Given the description of an element on the screen output the (x, y) to click on. 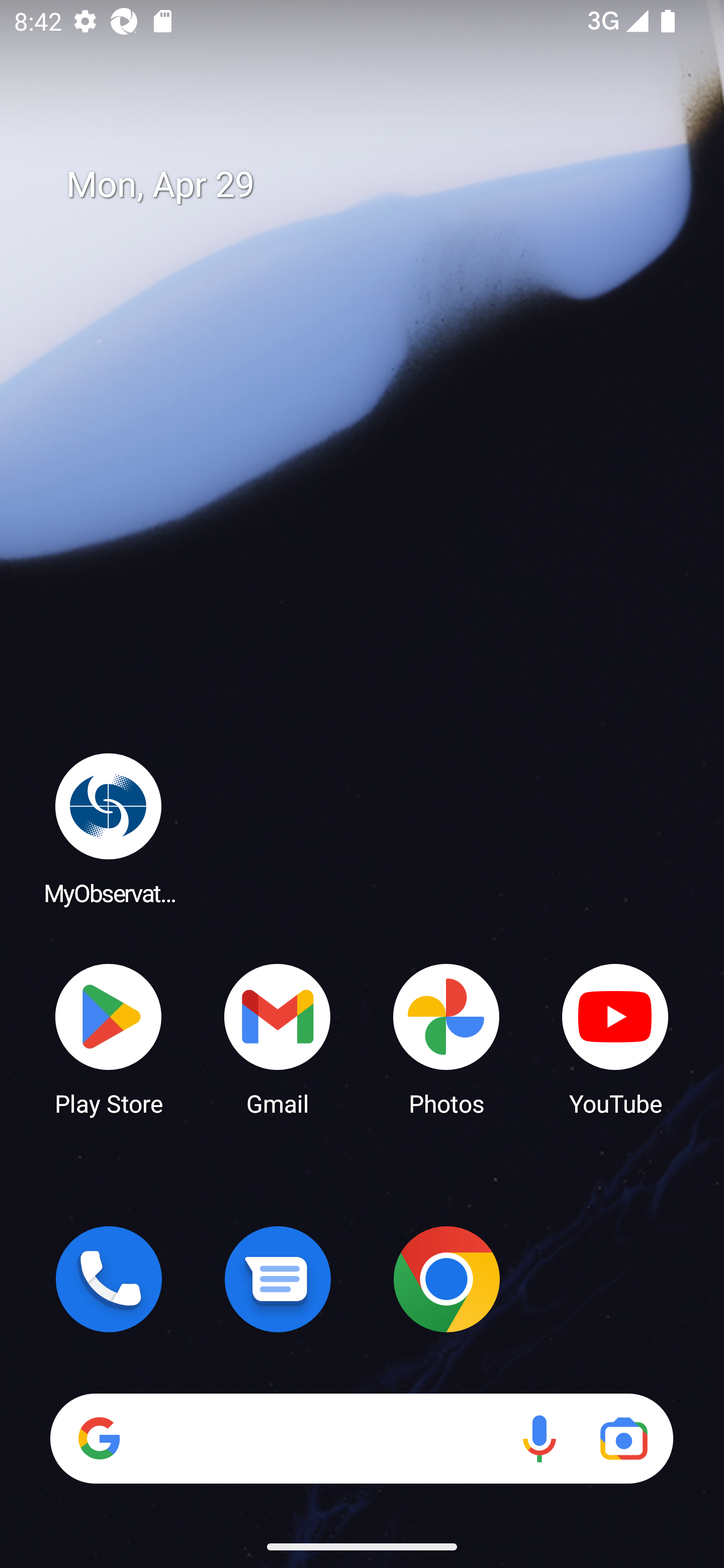
Mon, Apr 29 (375, 184)
MyObservatory (108, 828)
Play Store (108, 1038)
Gmail (277, 1038)
Photos (445, 1038)
YouTube (615, 1038)
Phone (108, 1279)
Messages (277, 1279)
Chrome (446, 1279)
Voice search (539, 1438)
Google Lens (623, 1438)
